Given the description of an element on the screen output the (x, y) to click on. 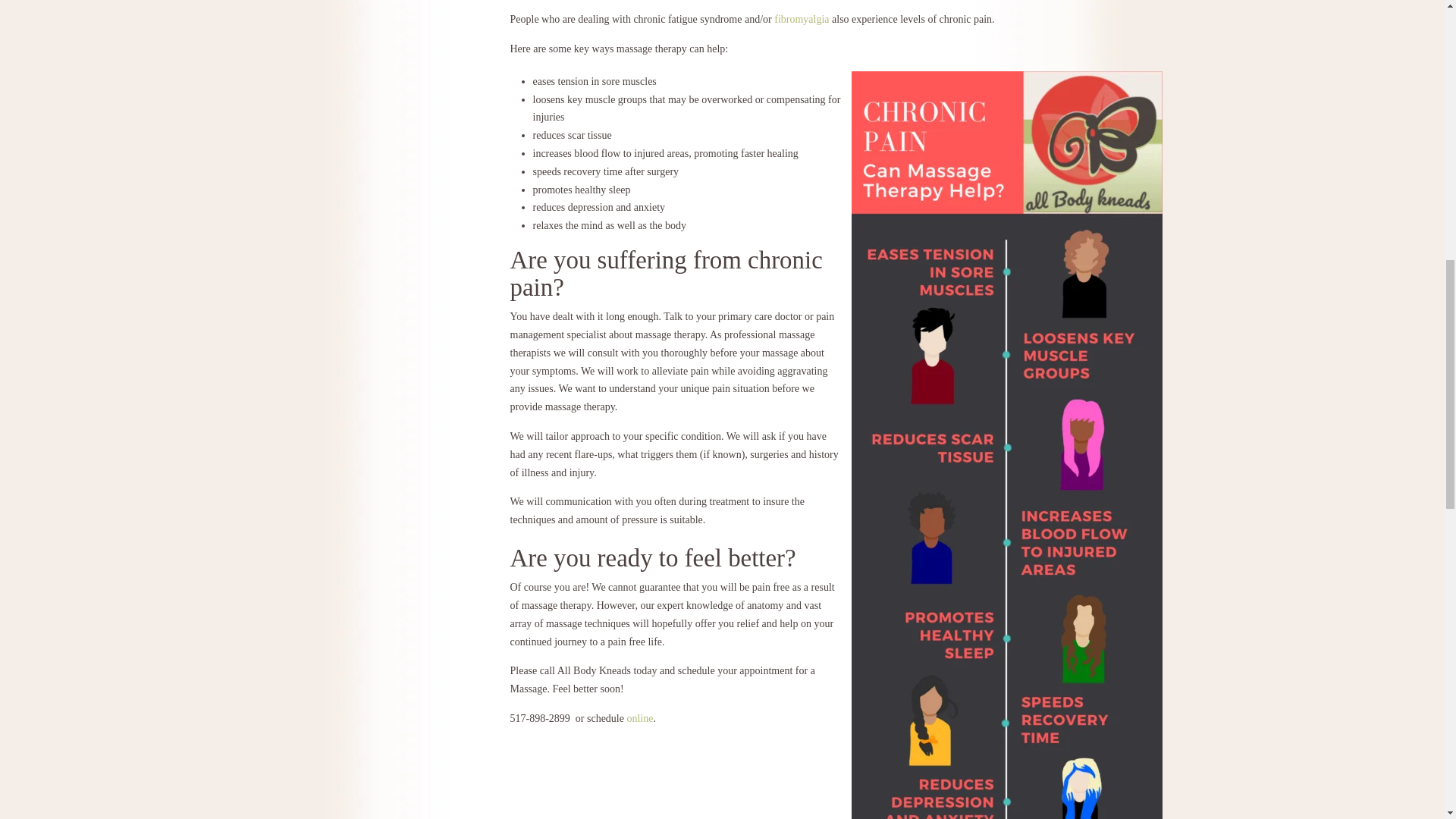
fibromyalgia (801, 19)
online (639, 717)
